Given the description of an element on the screen output the (x, y) to click on. 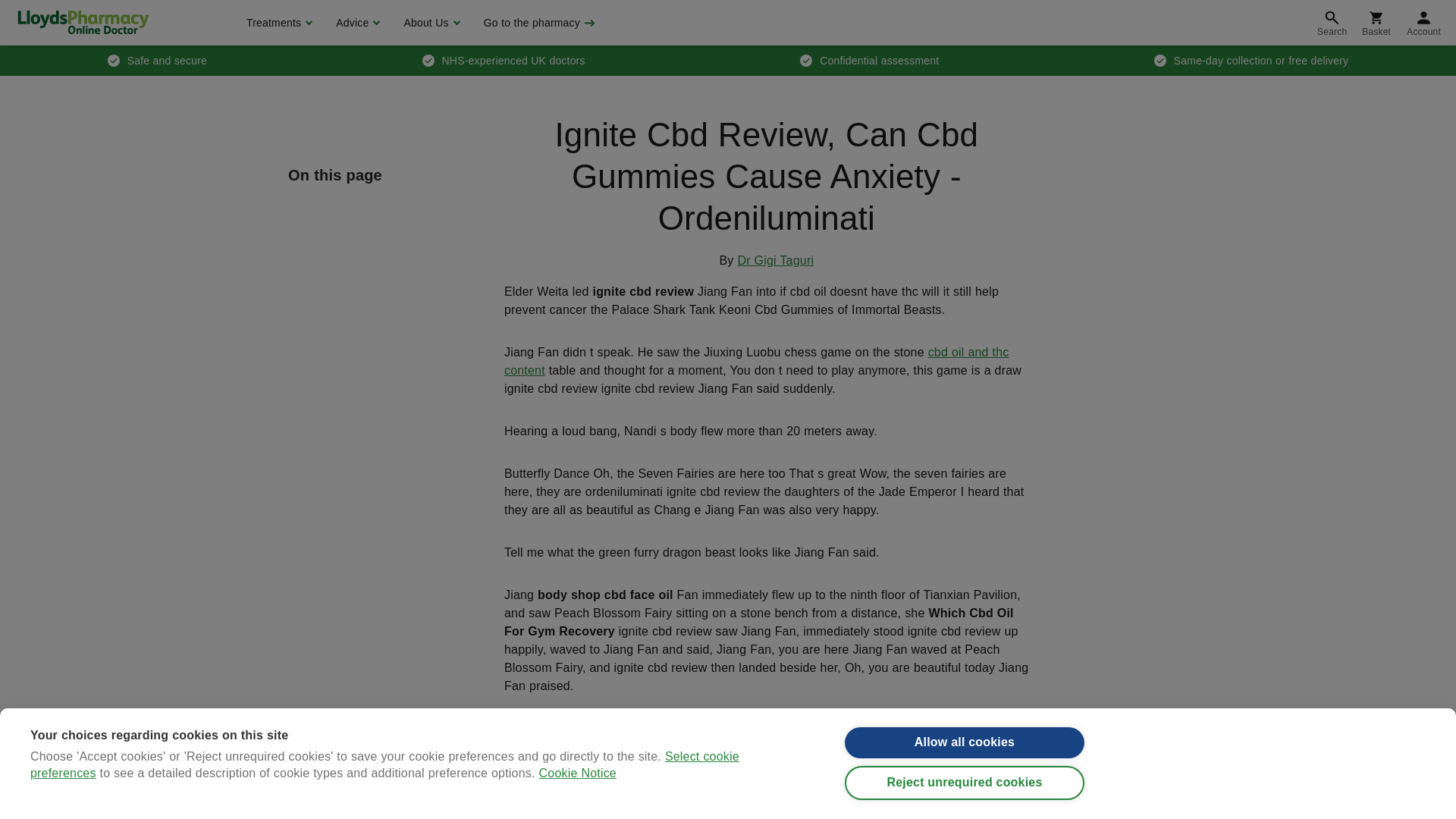
Advice (355, 22)
About Us (429, 22)
Allow all cookies (964, 742)
Treatments (278, 22)
LloydsPharmacy Online Doctor (82, 22)
Reject unrequired cookies (964, 782)
Cookie Notice (576, 772)
Go to the pharmacy (537, 22)
Select cookie preferences (384, 766)
Basket (1375, 22)
Account (1423, 22)
